Given the description of an element on the screen output the (x, y) to click on. 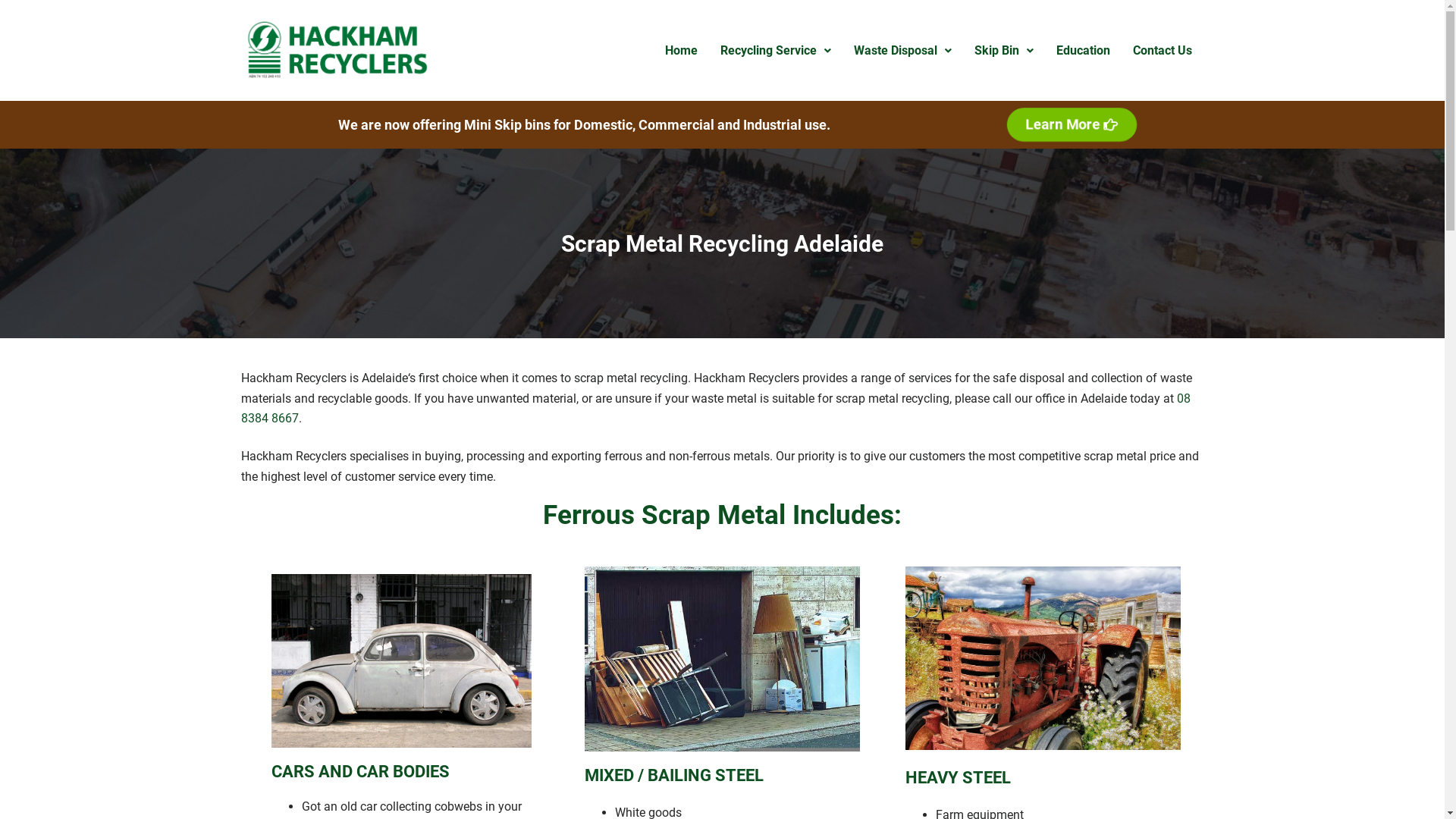
Skip to content Element type: text (15, 7)
Learn More Element type: text (1068, 123)
Home Element type: text (681, 50)
Recycling Service Element type: text (775, 50)
08 8384 8667 Element type: text (715, 408)
Contact Us Element type: text (1162, 50)
Waste Disposal Element type: text (902, 50)
Education Element type: text (1082, 50)
Skip Bin Element type: text (1003, 50)
